Given the description of an element on the screen output the (x, y) to click on. 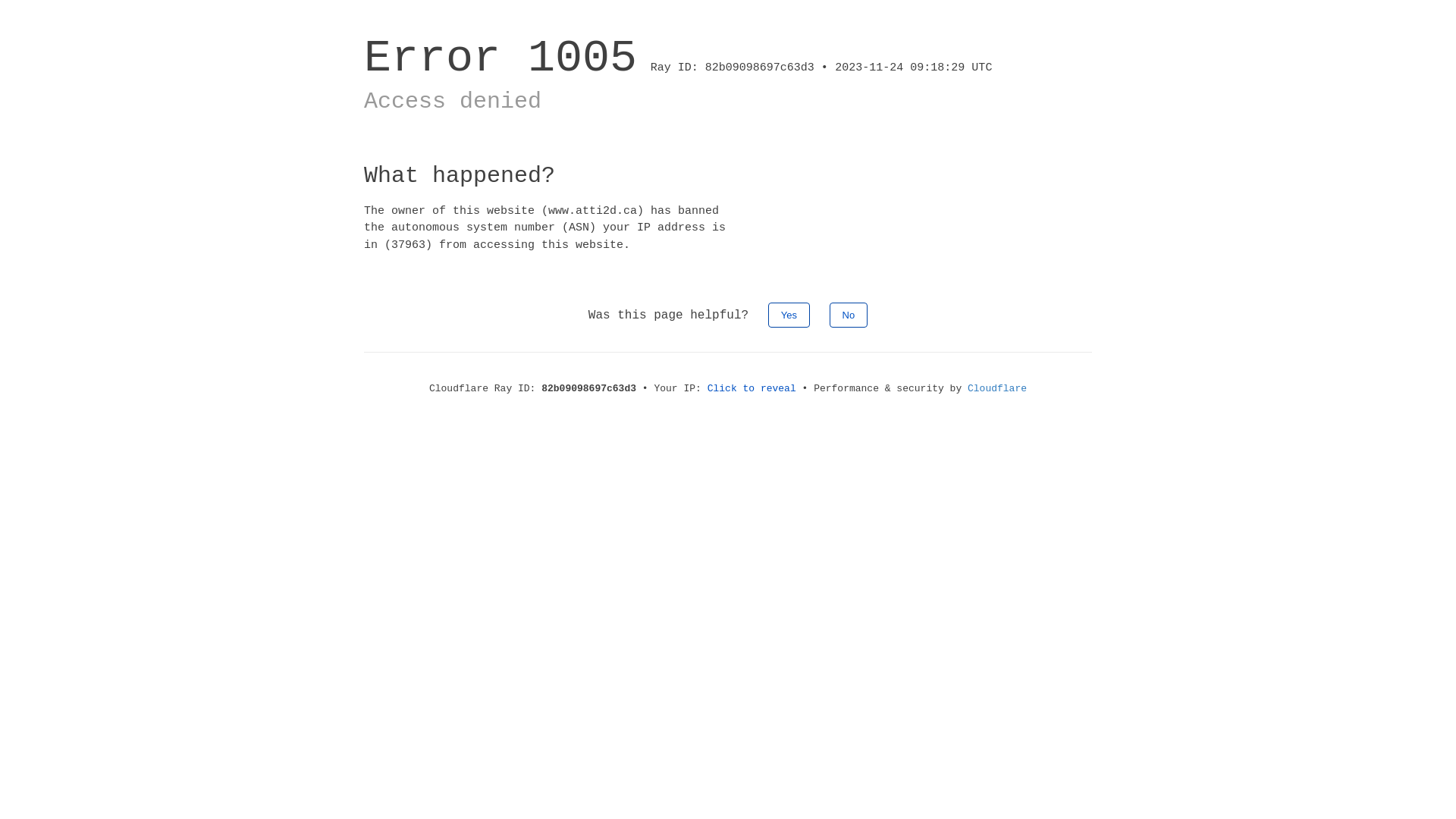
Yes Element type: text (788, 314)
Cloudflare Element type: text (996, 388)
No Element type: text (848, 314)
Click to reveal Element type: text (751, 388)
